Given the description of an element on the screen output the (x, y) to click on. 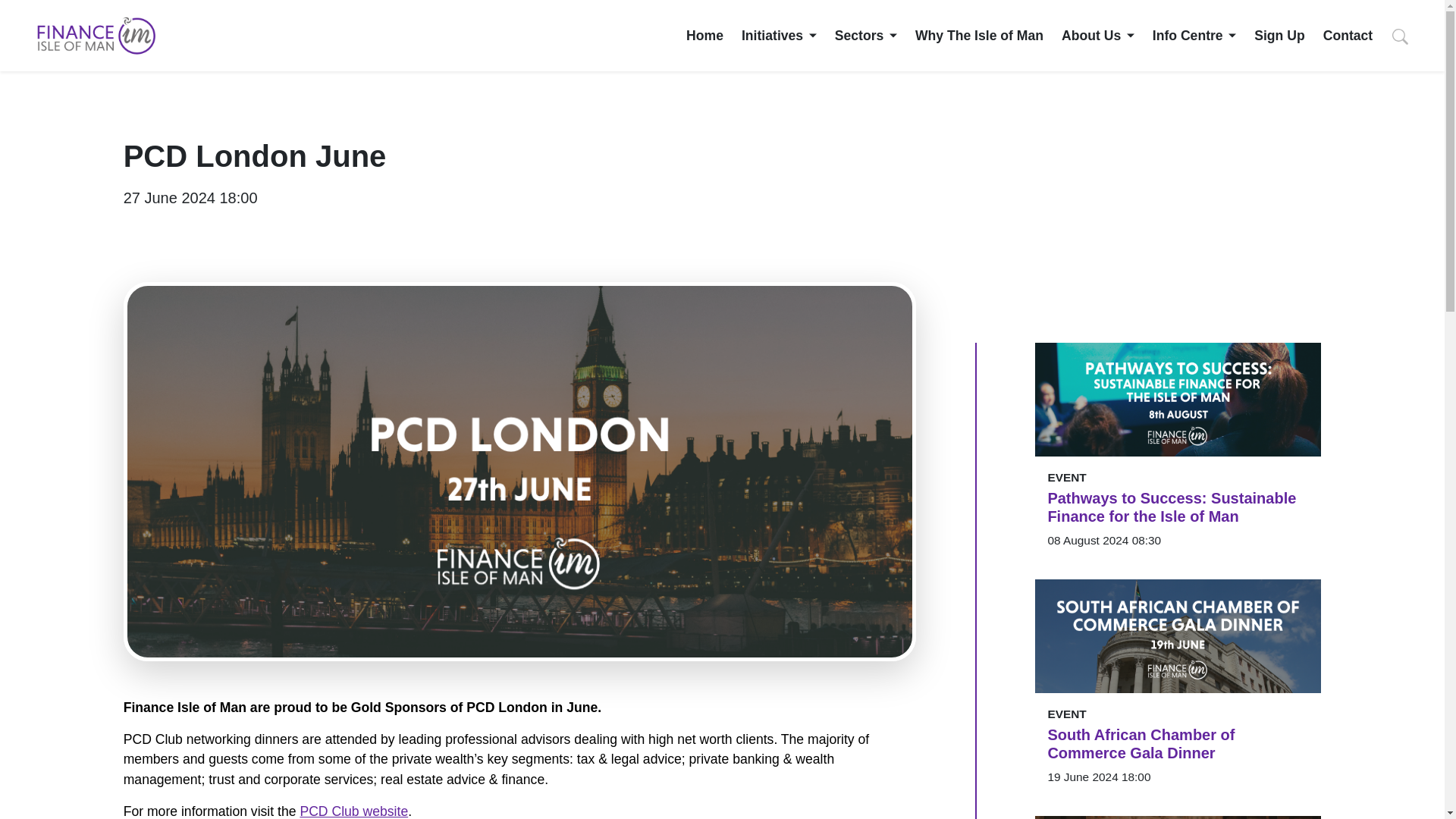
Why The Isle of Man (979, 35)
Initiatives (778, 35)
Pathways to Success: Sustainable Finance for the Isle of Man (1177, 506)
About Us (1097, 35)
Contact (1348, 35)
Info Centre (1194, 35)
Sectors (865, 35)
Sign Up (1278, 35)
South African Chamber of Commerce Gala Dinner (1177, 743)
PCD Club website (353, 811)
